Given the description of an element on the screen output the (x, y) to click on. 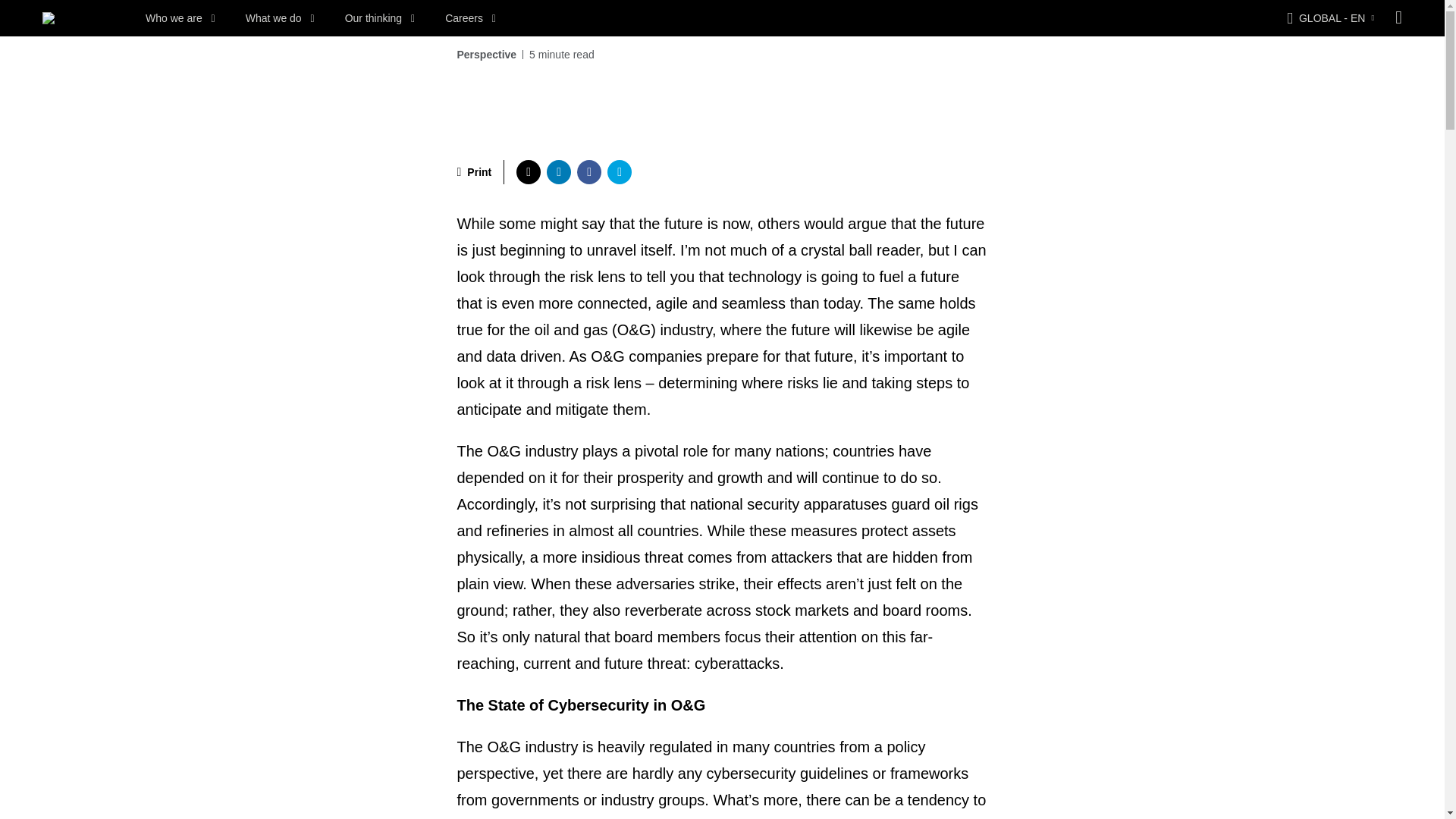
share via facebook (588, 171)
share via email (619, 171)
Print (474, 171)
share via linkedin (558, 171)
share via twitter (528, 171)
What we do (280, 18)
Deloitte (48, 18)
Our thinking (379, 18)
Who we are (180, 18)
Careers (470, 18)
